Given the description of an element on the screen output the (x, y) to click on. 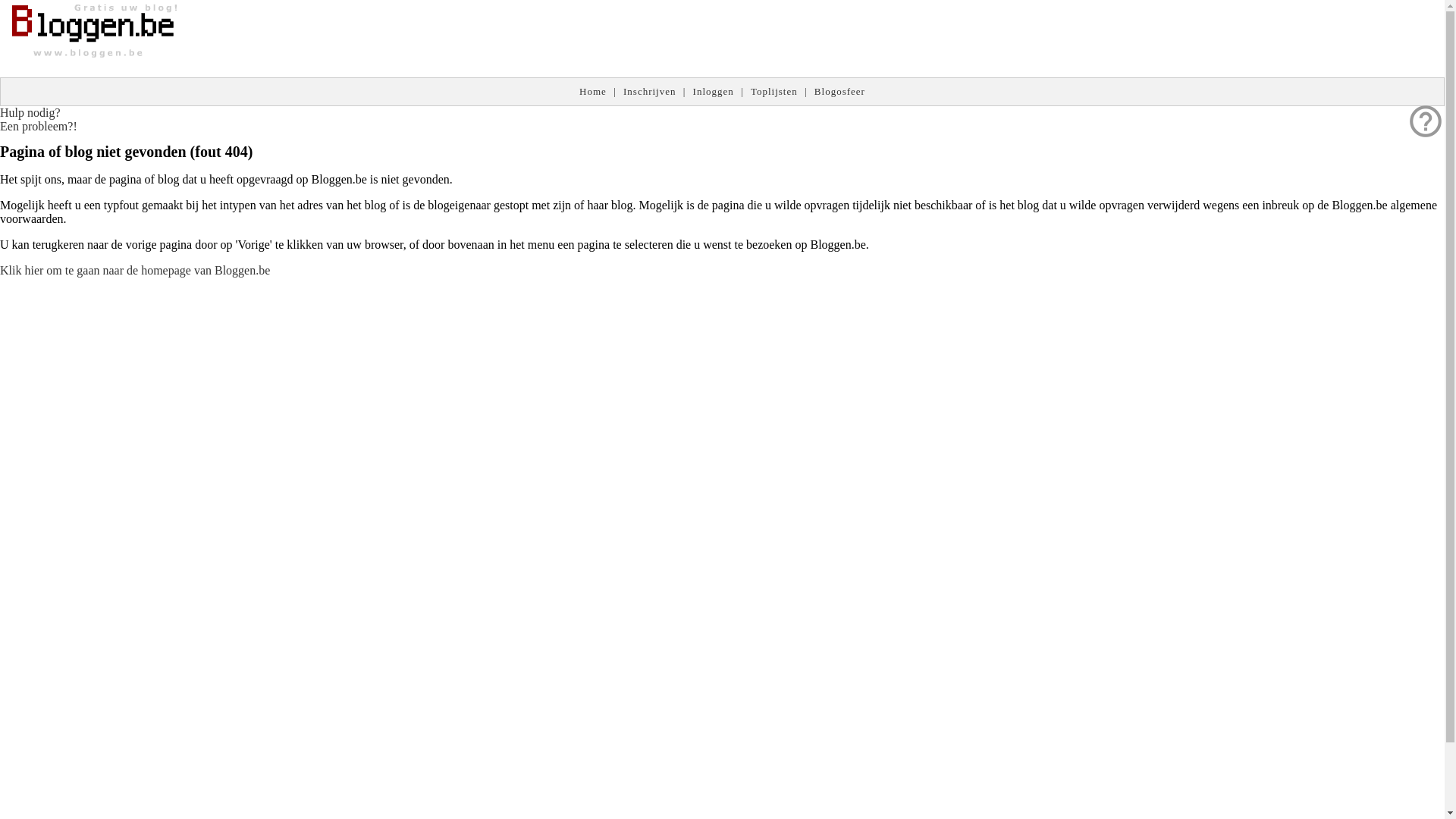
Inloggen Element type: text (713, 91)
Inschrijven Element type: text (649, 91)
Klik hier om te gaan naar de homepage van Bloggen.be Element type: text (134, 269)
Home Element type: text (592, 91)
help_outline
Hulp nodig?
Een probleem?! Element type: text (38, 119)
Blogosfeer Element type: text (839, 91)
Toplijsten Element type: text (773, 91)
